Given the description of an element on the screen output the (x, y) to click on. 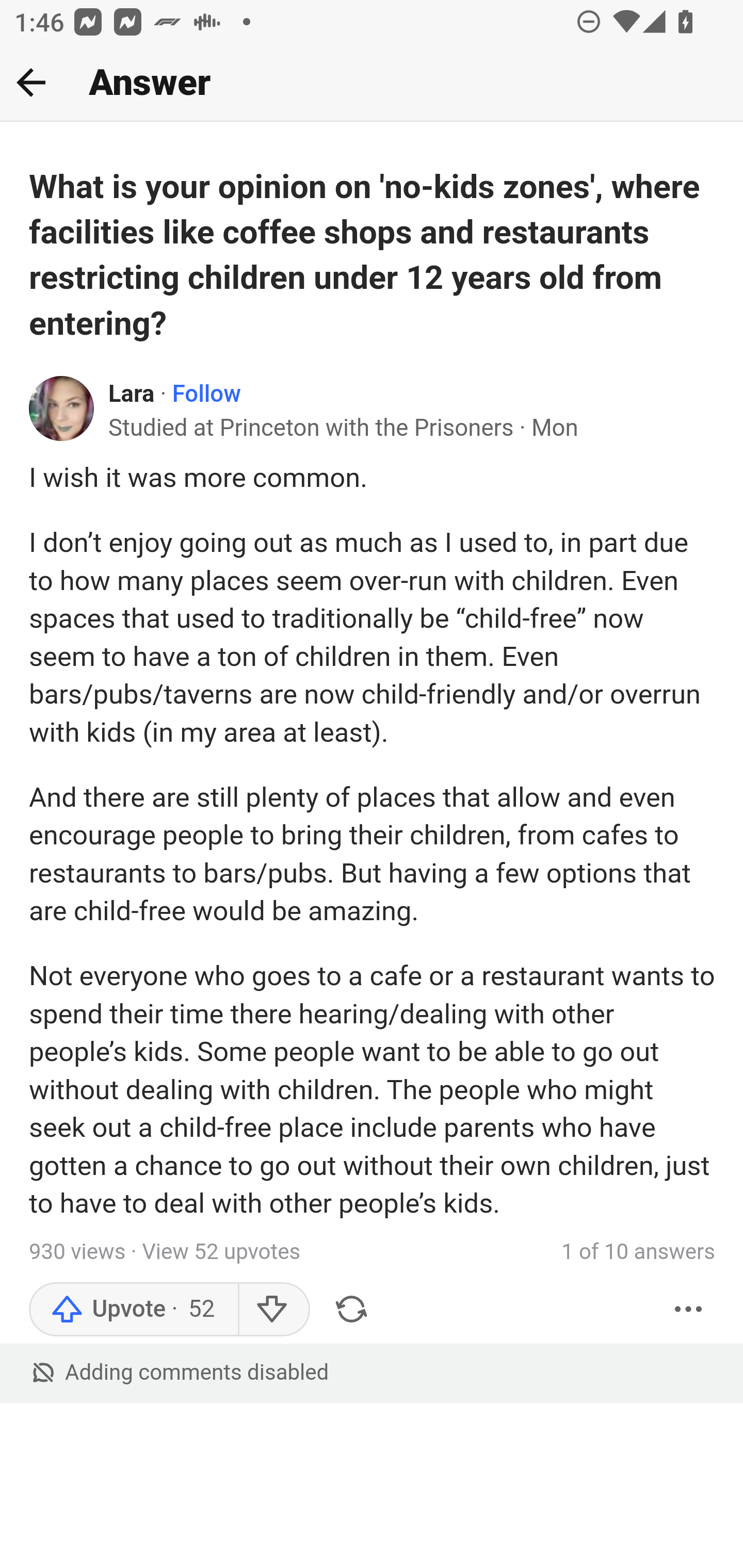
Back (30, 82)
Profile photo for Lara (61, 407)
Lara (131, 394)
Follow (206, 394)
View 52 upvotes (221, 1251)
1 of 10 answers (637, 1251)
Upvote (133, 1308)
Downvote (273, 1308)
Share (350, 1308)
More (688, 1308)
